Given the description of an element on the screen output the (x, y) to click on. 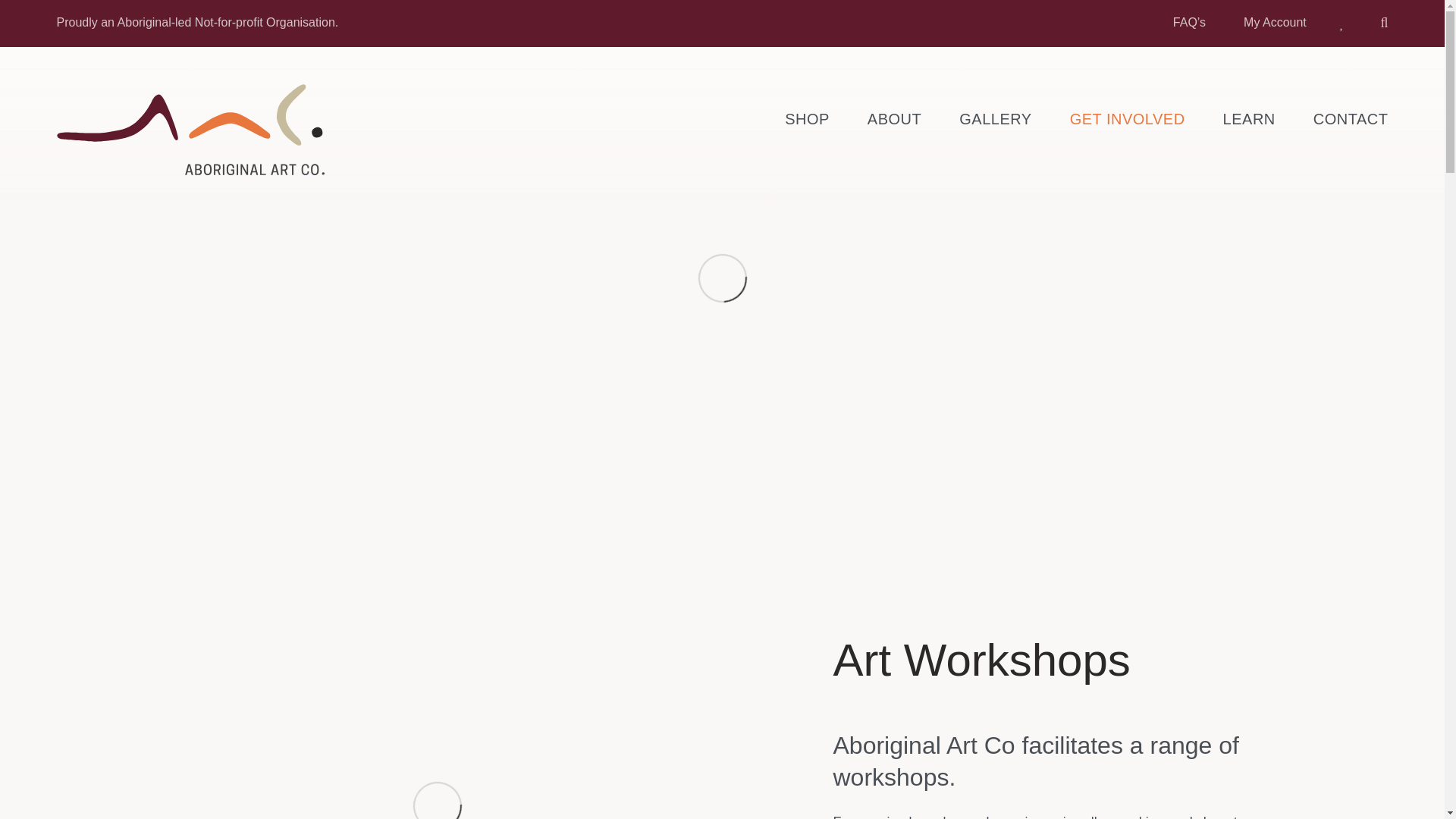
CONTACT (1351, 119)
My Account (1274, 21)
LEARN (1249, 119)
Search (1377, 22)
GALLERY (994, 119)
GET INVOLVED (1127, 119)
SHOP (806, 119)
ABOUT (894, 119)
